Given the description of an element on the screen output the (x, y) to click on. 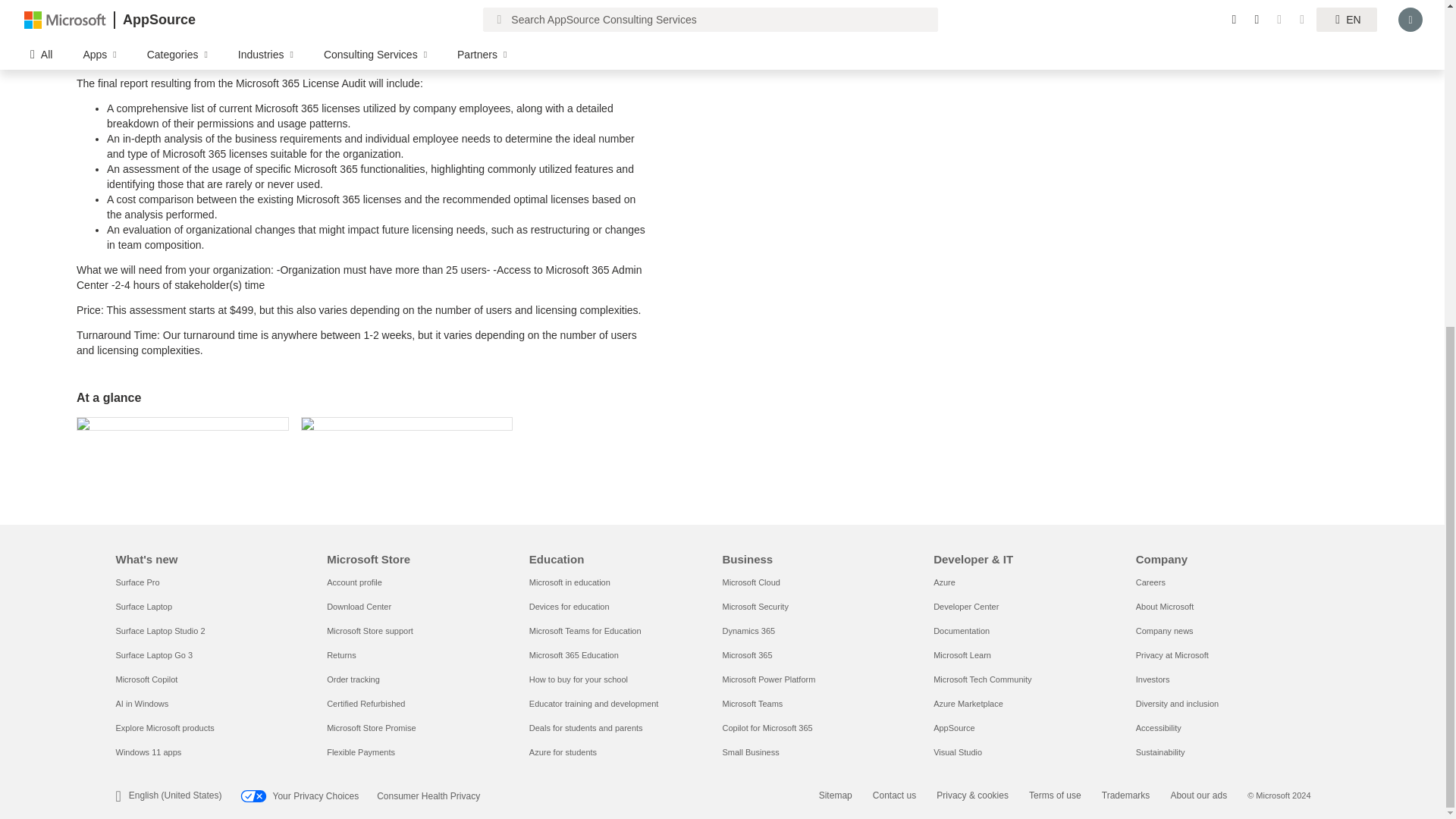
Explore Microsoft products (164, 727)
Account profile (353, 582)
Microsoft Copilot (146, 678)
Flexible Payments (360, 751)
Surface Laptop (143, 605)
Order tracking (353, 678)
Windows 11 apps (147, 751)
AI in Windows (141, 703)
Surface Pro (136, 582)
Surface Laptop Studio 2 (160, 630)
